Given the description of an element on the screen output the (x, y) to click on. 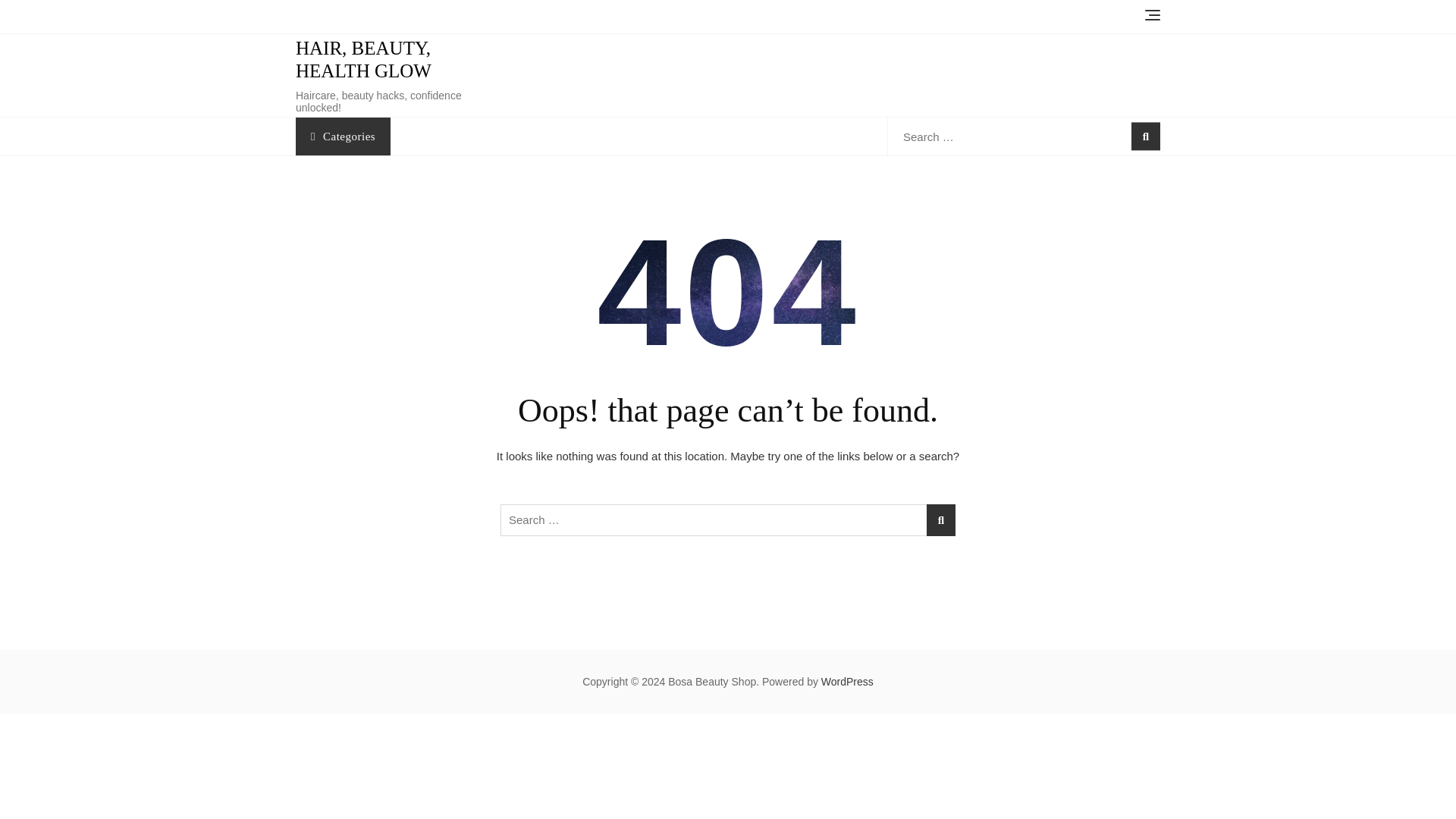
Search (136, 6)
HAIR, BEAUTY, HEALTH GLOW (362, 59)
Search (227, 6)
WordPress (847, 681)
Categories (342, 136)
